Given the description of an element on the screen output the (x, y) to click on. 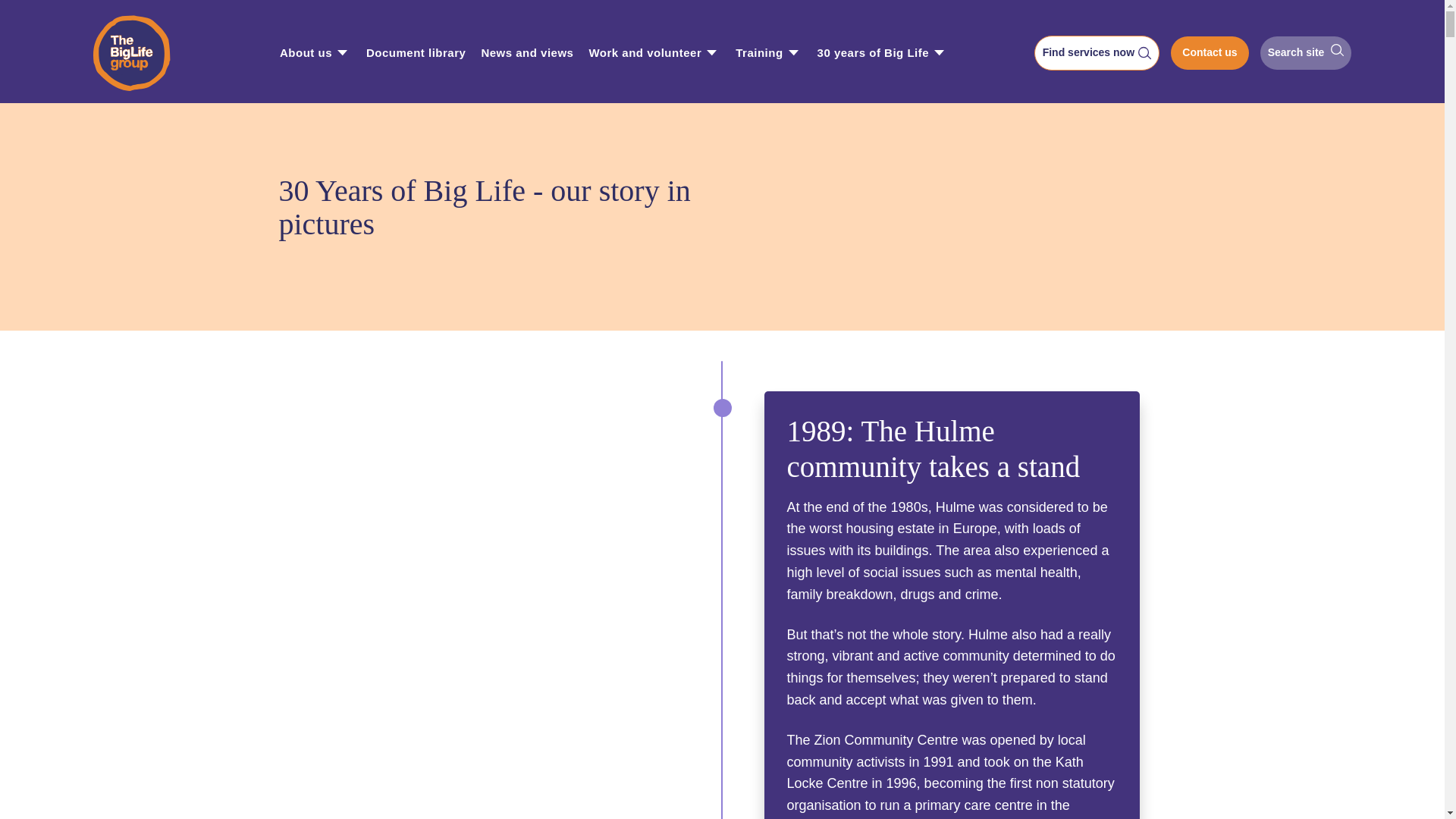
News and views (526, 53)
30 years of Big Life (873, 53)
Find services now (1096, 53)
Work and volunteer (644, 53)
About us (305, 53)
The Big Life group (143, 52)
Document library (415, 53)
